Given the description of an element on the screen output the (x, y) to click on. 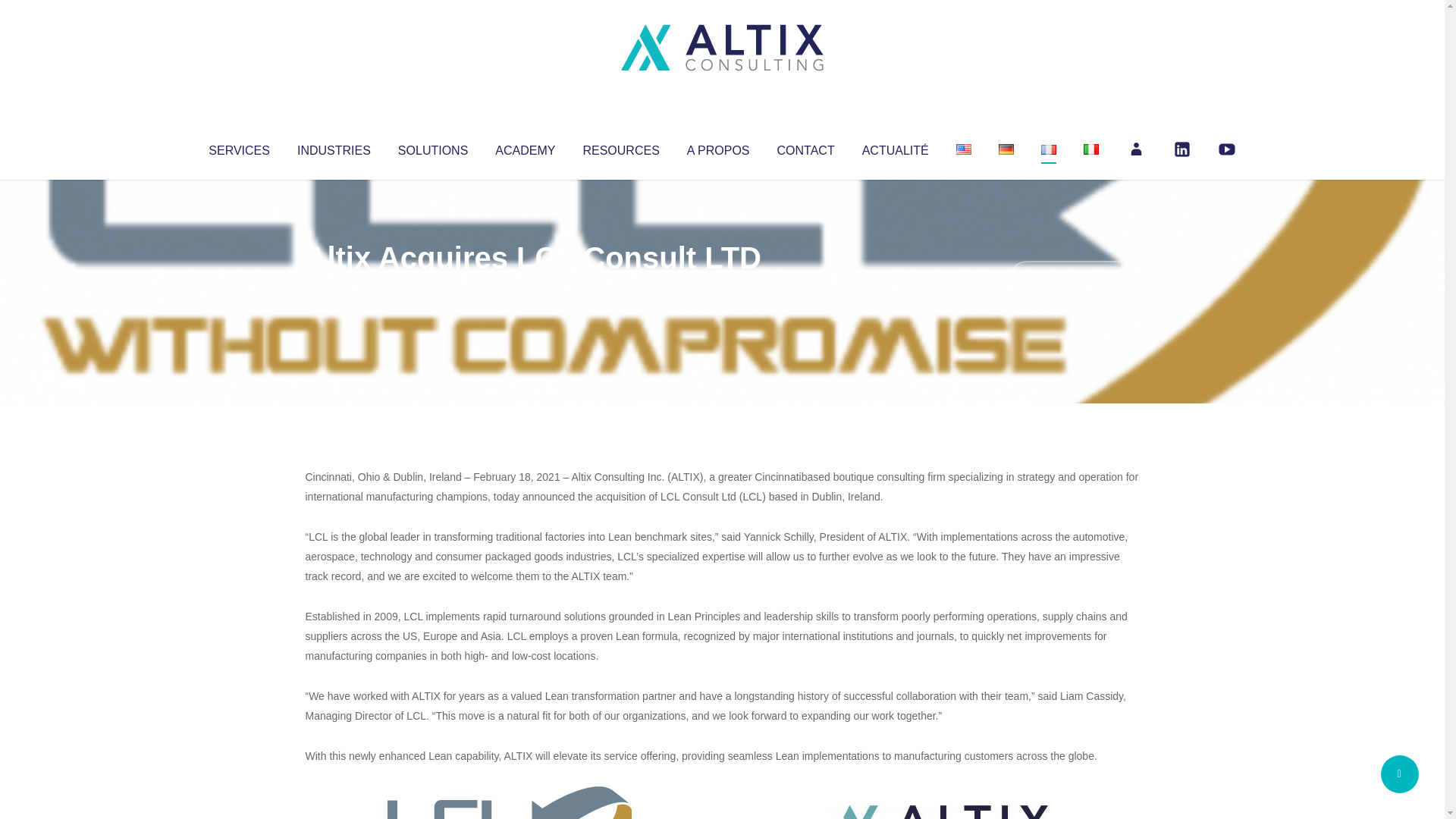
No Comments (1073, 278)
SERVICES (238, 146)
Altix (333, 287)
Articles par Altix (333, 287)
INDUSTRIES (334, 146)
A PROPOS (718, 146)
SOLUTIONS (432, 146)
Uncategorized (530, 287)
RESOURCES (620, 146)
ACADEMY (524, 146)
